Given the description of an element on the screen output the (x, y) to click on. 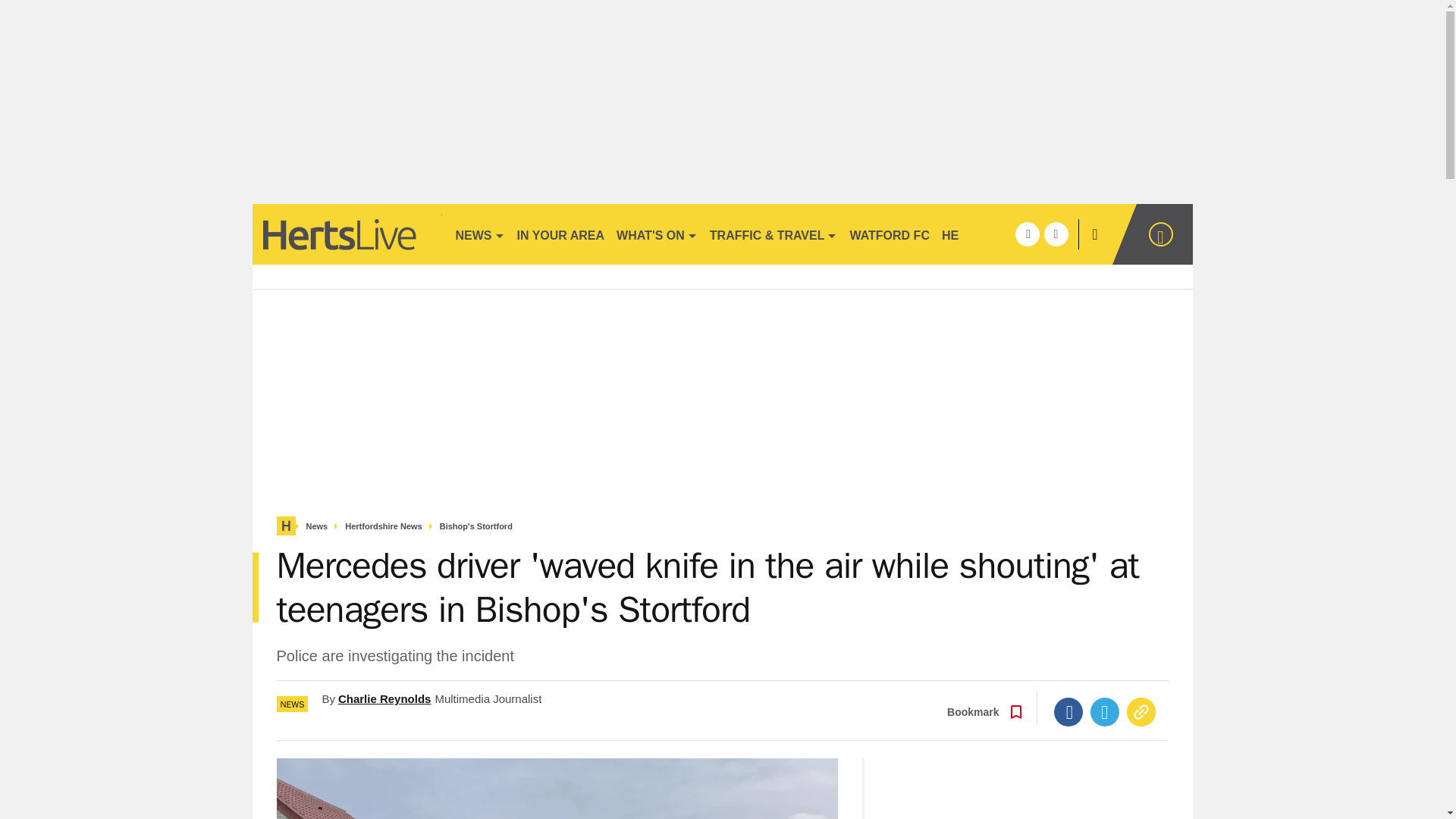
facebook (1026, 233)
twitter (1055, 233)
Twitter (1104, 711)
IN YOUR AREA (561, 233)
HEMEL HEMPSTEAD (1003, 233)
WATFORD FC (888, 233)
WHAT'S ON (656, 233)
hertfordshiremercury (346, 233)
NEWS (479, 233)
Facebook (1068, 711)
